Given the description of an element on the screen output the (x, y) to click on. 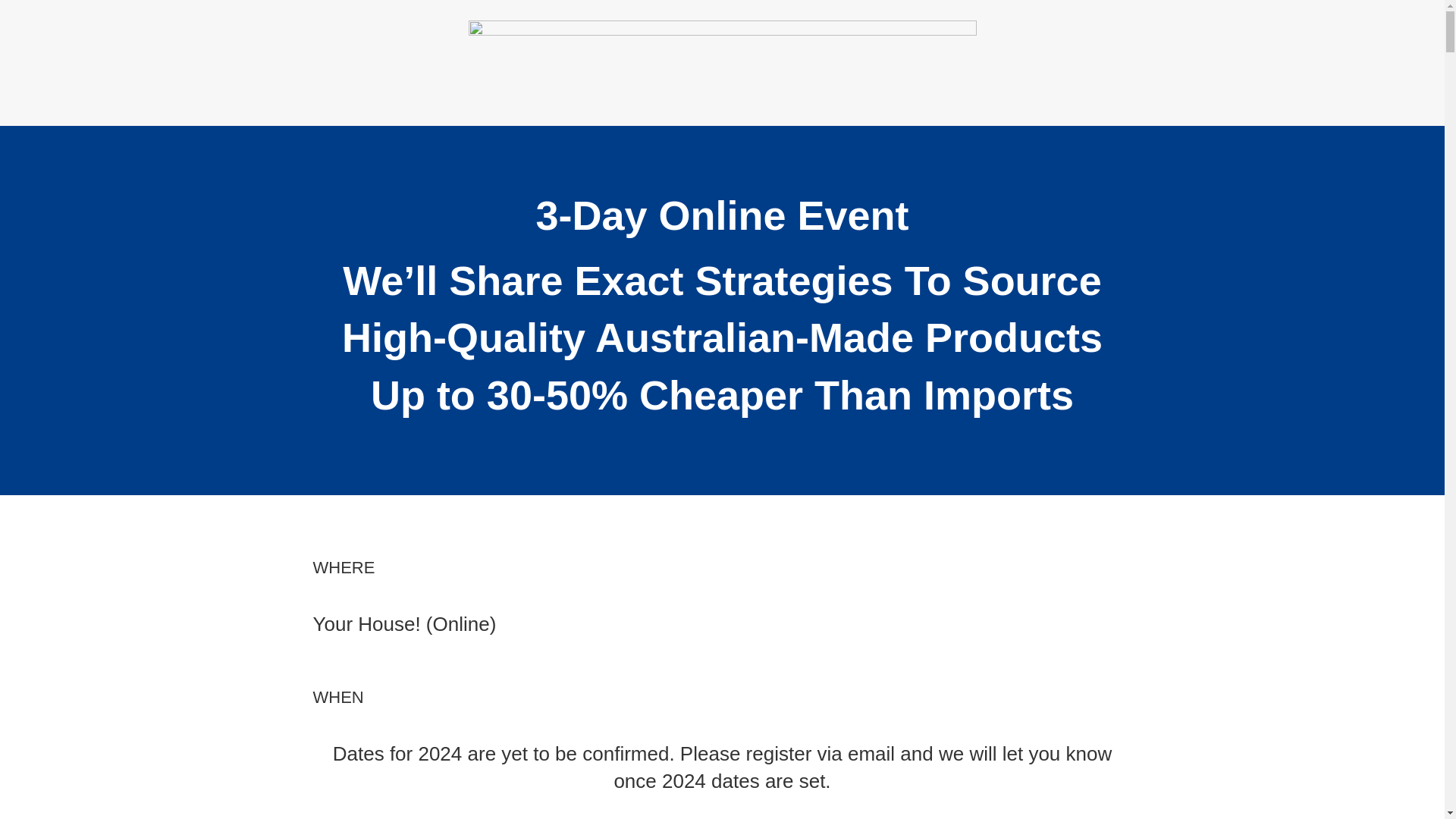
banner2soptx Element type: hover (722, 72)
